Given the description of an element on the screen output the (x, y) to click on. 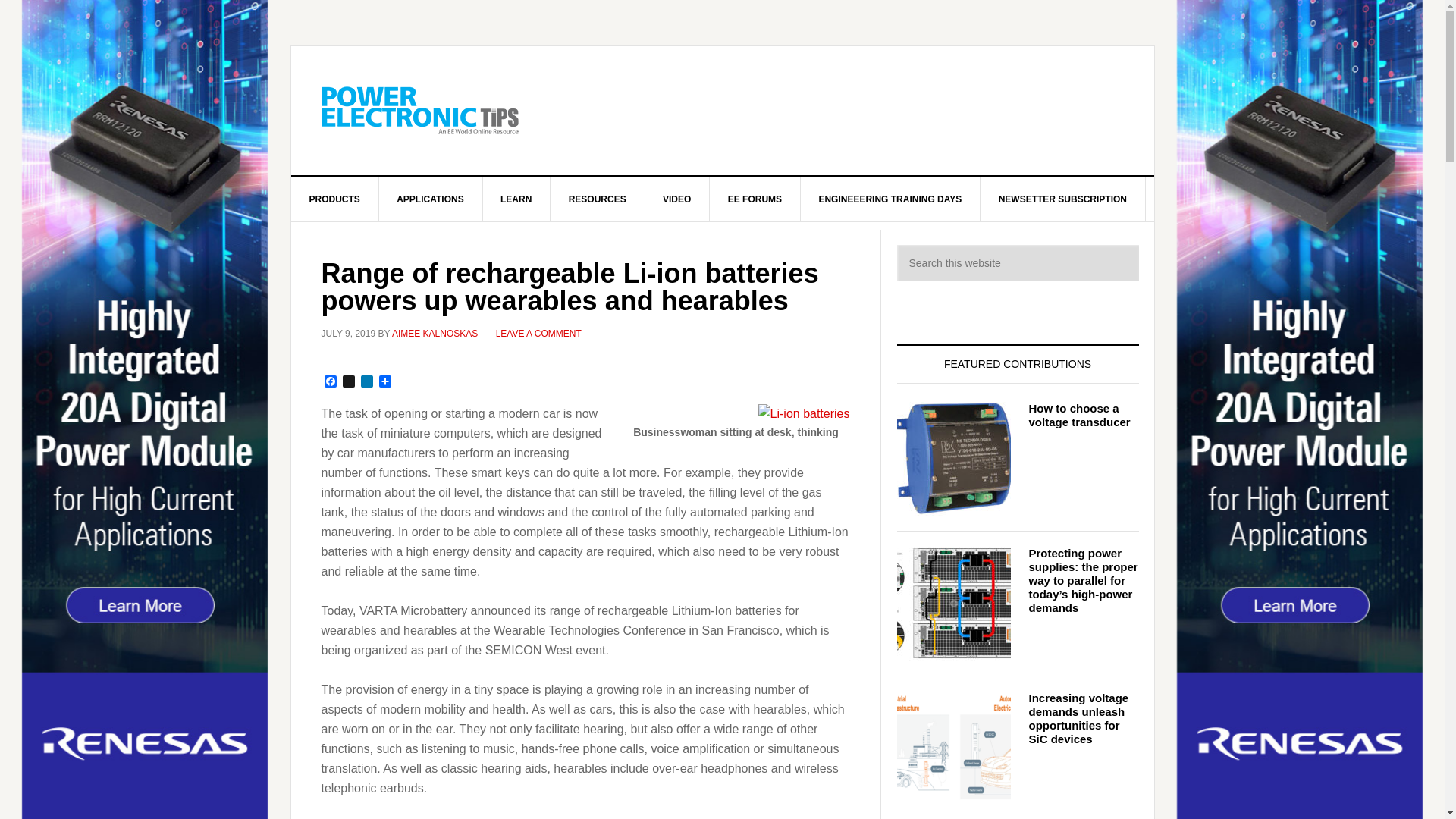
Facebook (330, 382)
RESOURCES (597, 199)
LEARN (515, 199)
LinkedIn (366, 382)
POWER ELECTRONIC TIPS (419, 110)
3rd party ad content (848, 110)
APPLICATIONS (429, 199)
PRODUCTS (334, 199)
X (348, 382)
